Given the description of an element on the screen output the (x, y) to click on. 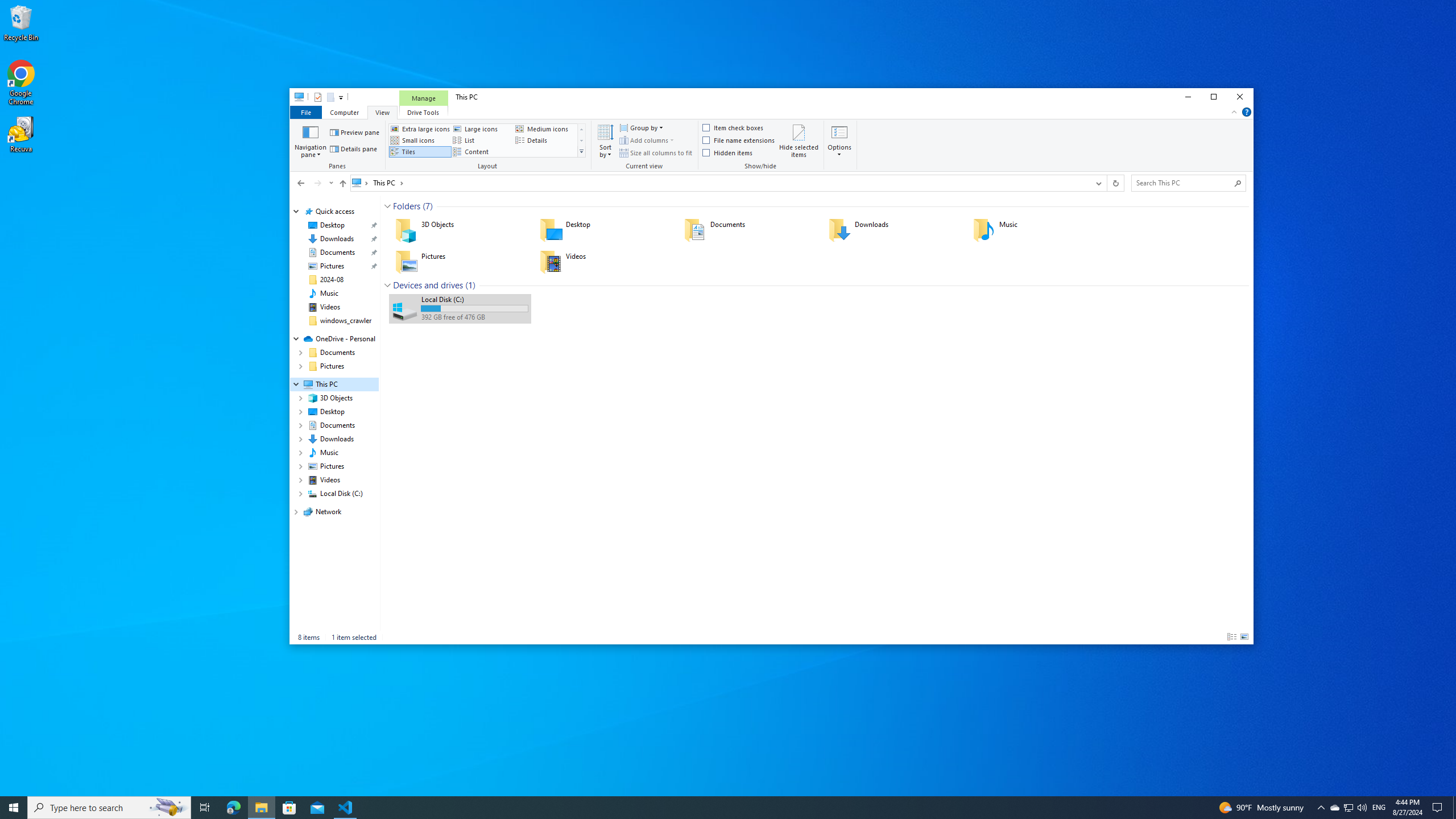
Recent locations (330, 182)
Space used (474, 308)
Group by (641, 128)
Count (470, 285)
System (295, 98)
Minimize the Ribbon (1233, 111)
Desktop (603, 229)
This PC (388, 182)
Navigation buttons (314, 182)
Address: This PC (719, 182)
Available space (474, 316)
Collapse Group (386, 285)
